Given the description of an element on the screen output the (x, y) to click on. 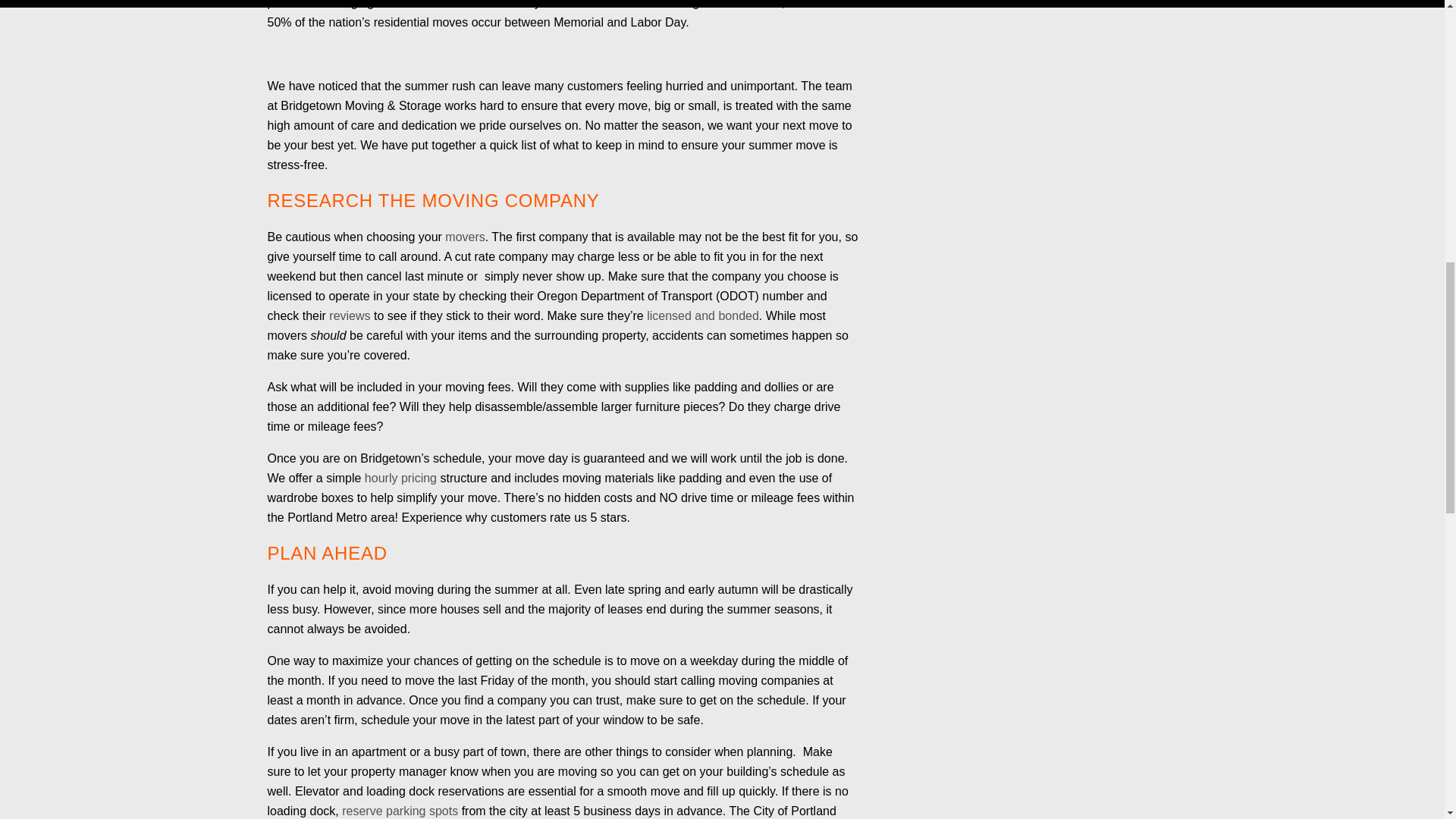
hourly pricing (400, 477)
reviews (349, 315)
movers (464, 236)
licensed and bonded (702, 315)
reserve parking spots (400, 810)
